Given the description of an element on the screen output the (x, y) to click on. 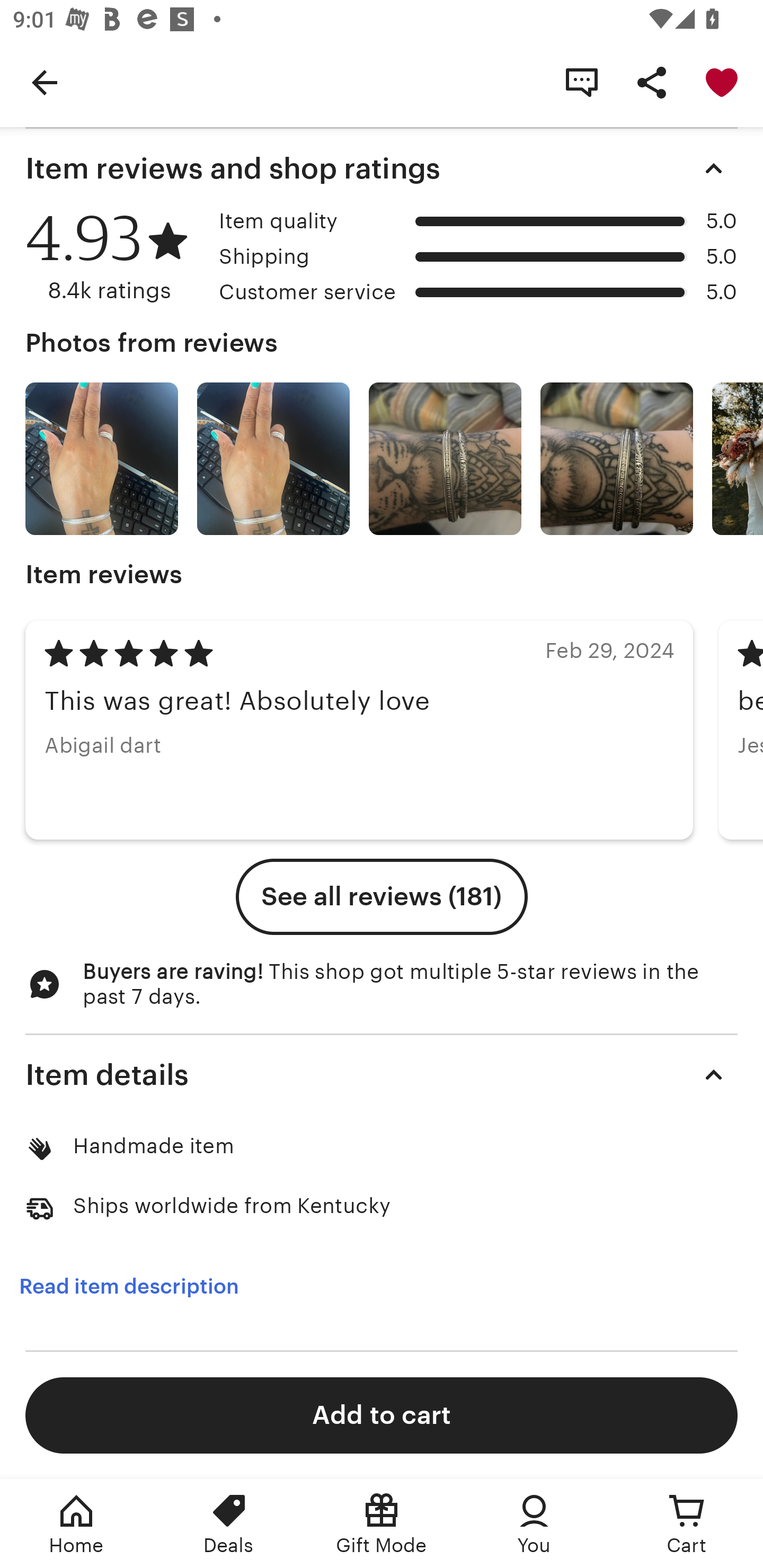
Navigate up (44, 81)
Contact shop (581, 81)
Share (651, 81)
Item reviews and shop ratings (381, 168)
4.93 8.4k ratings (115, 257)
Photo from review (101, 458)
Photo from review (272, 458)
Photo from review (444, 458)
Photo from review (616, 458)
See all reviews (181) (381, 896)
Item details (381, 1074)
Read item description (128, 1286)
Add to cart (381, 1414)
Home (76, 1523)
Gift Mode (381, 1523)
You (533, 1523)
Cart (686, 1523)
